Given the description of an element on the screen output the (x, y) to click on. 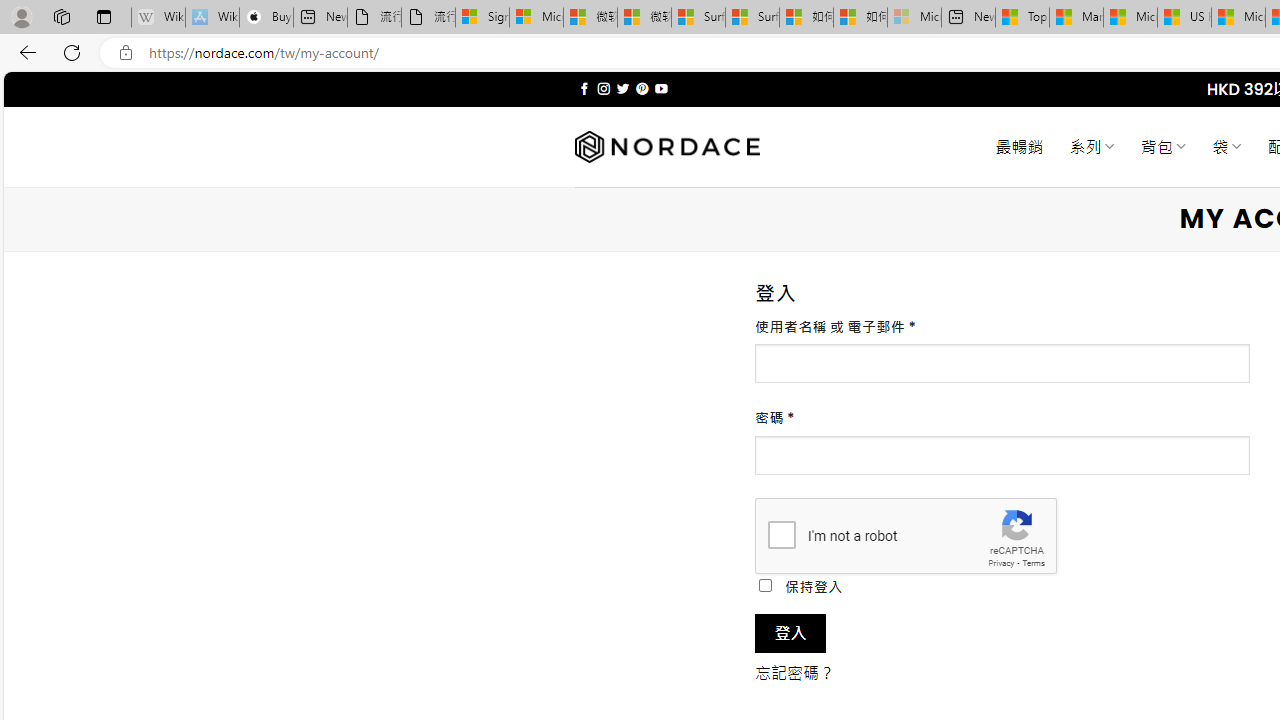
Follow on Twitter (621, 88)
Terms (1033, 562)
US Heat Deaths Soared To Record High Last Year (1184, 17)
Follow on Pinterest (642, 88)
Follow on Facebook (584, 88)
